Given the description of an element on the screen output the (x, y) to click on. 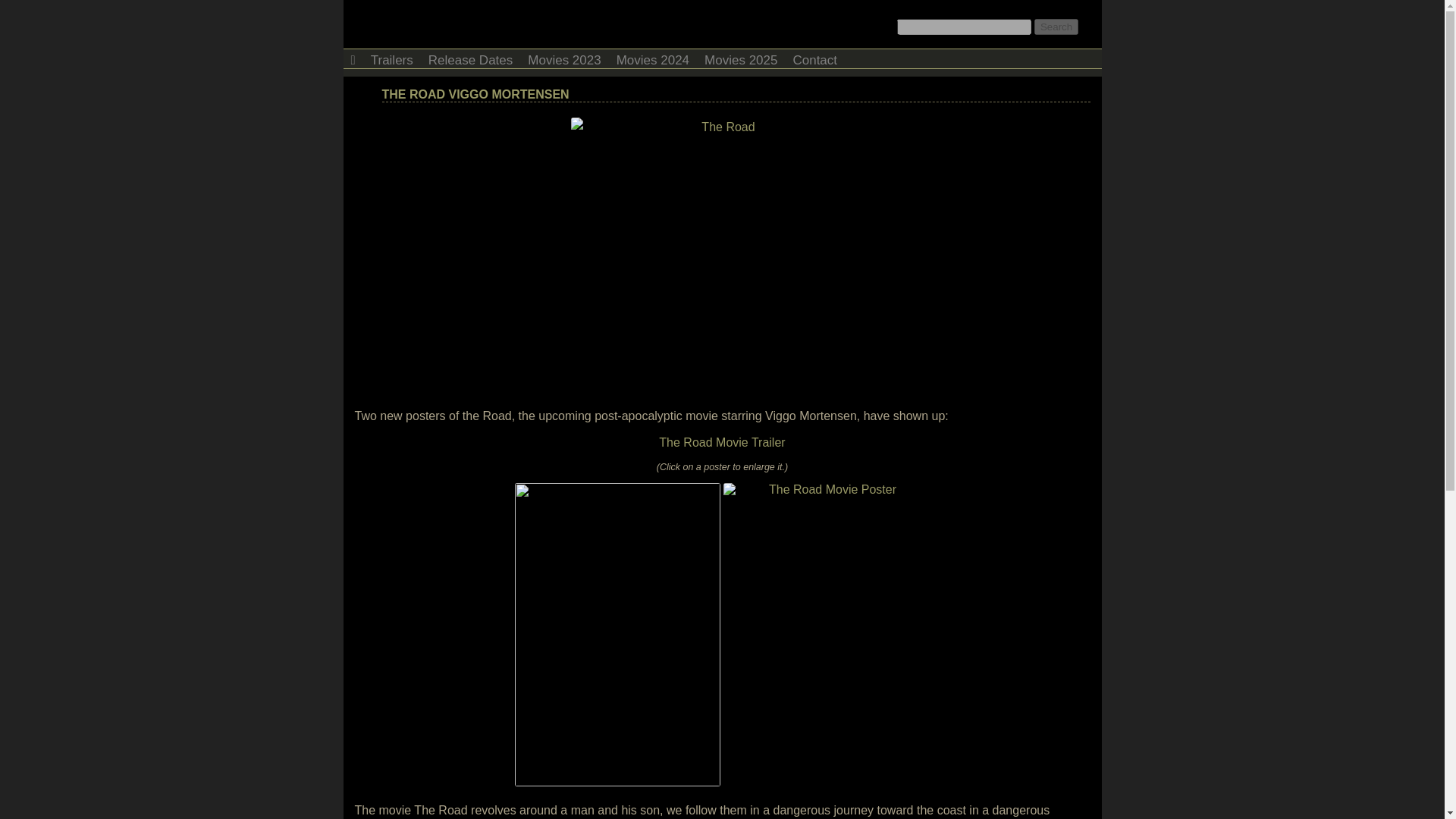
Trailers (391, 58)
The Road Movie Trailer (721, 441)
Home (352, 58)
Contact (814, 58)
Movies 2023 (563, 58)
Release Dates (470, 58)
Search (1055, 26)
Movies 2024 (652, 58)
THE ROAD VIGGO MORTENSEN (475, 93)
Search (1055, 26)
